Given the description of an element on the screen output the (x, y) to click on. 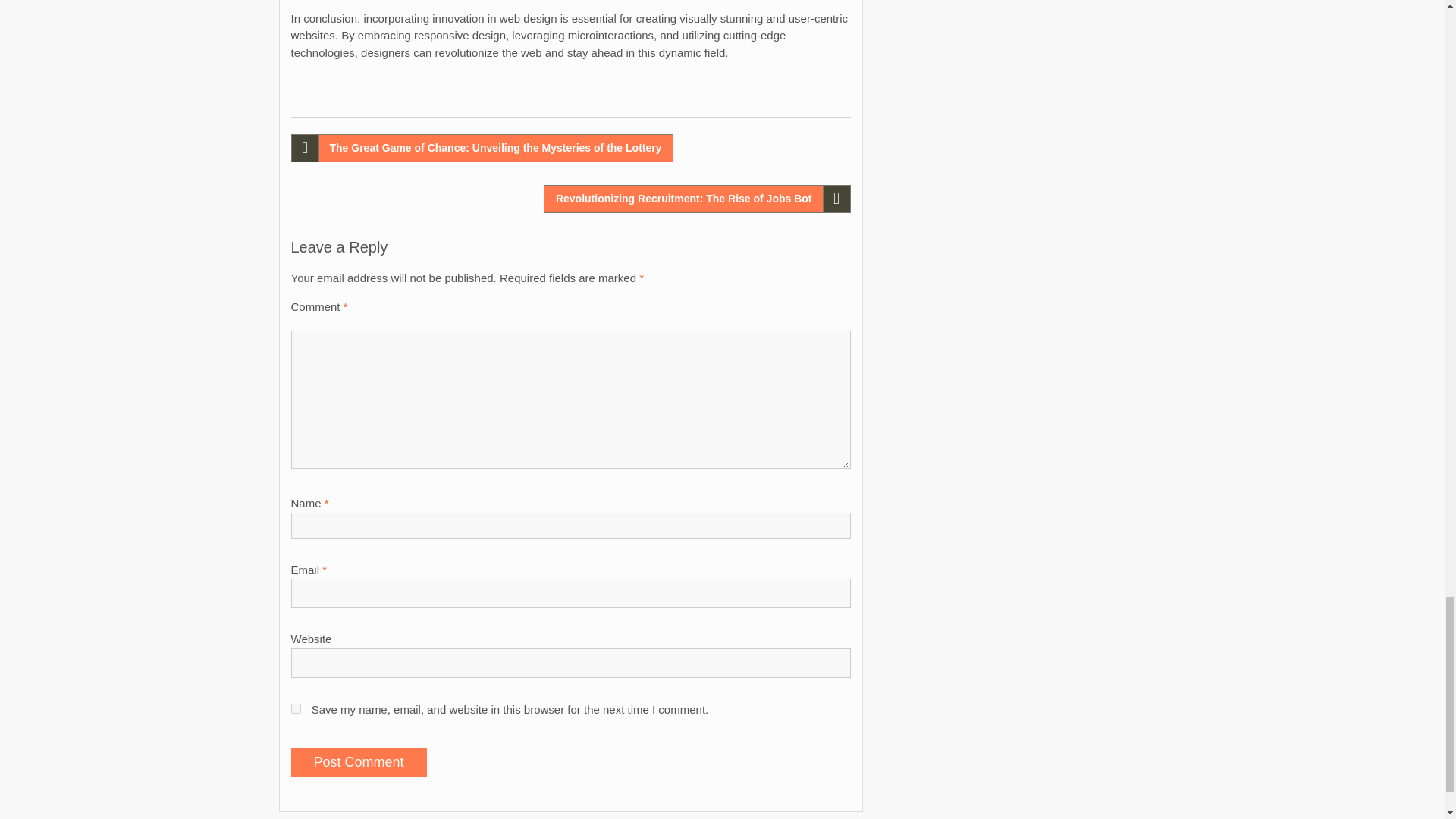
Revolutionizing Recruitment: The Rise of Jobs Bot (696, 198)
Post Comment (358, 762)
Post Comment (358, 762)
yes (296, 708)
